Given the description of an element on the screen output the (x, y) to click on. 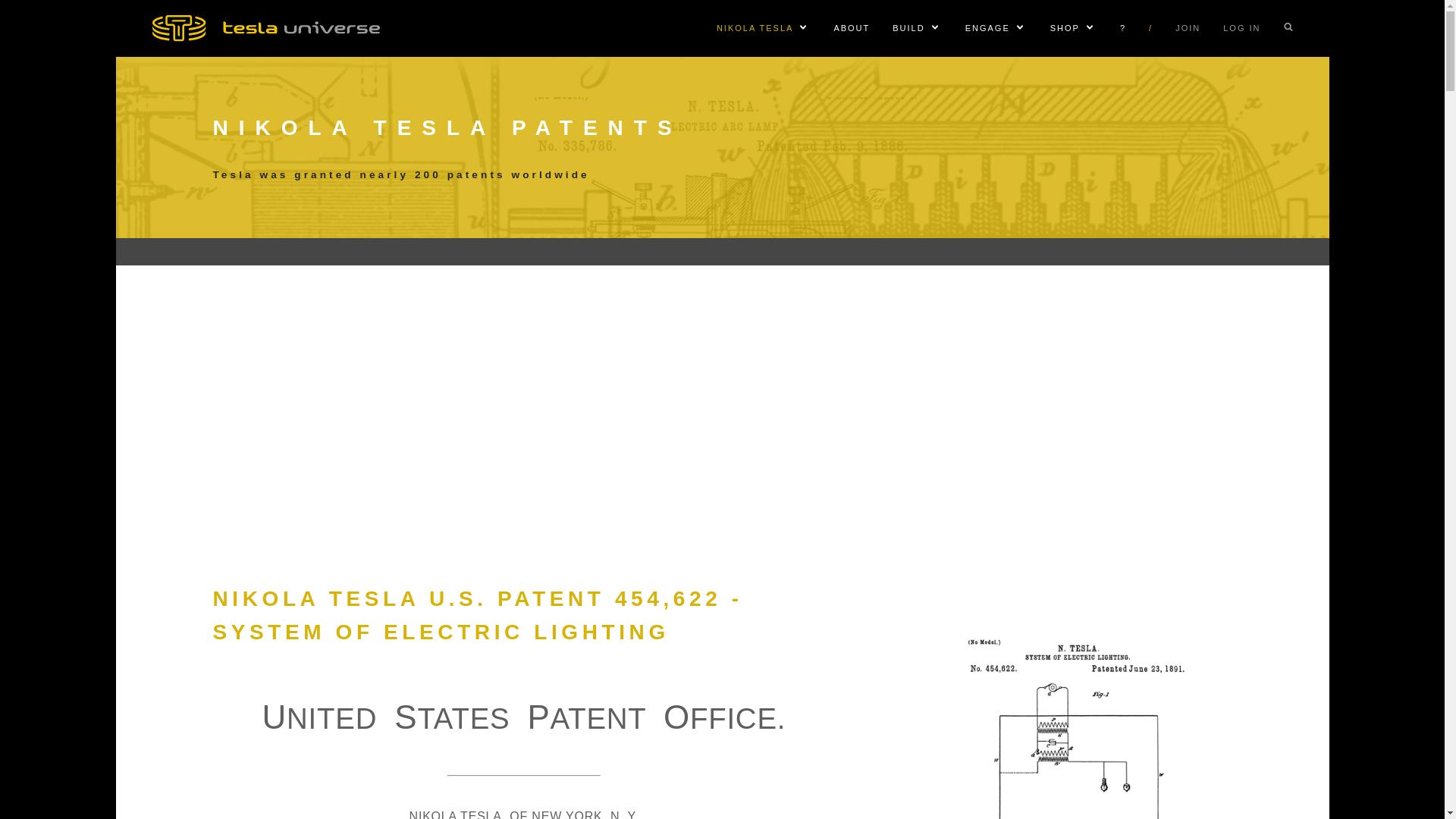
NIKOLA TESLA (754, 28)
